Given the description of an element on the screen output the (x, y) to click on. 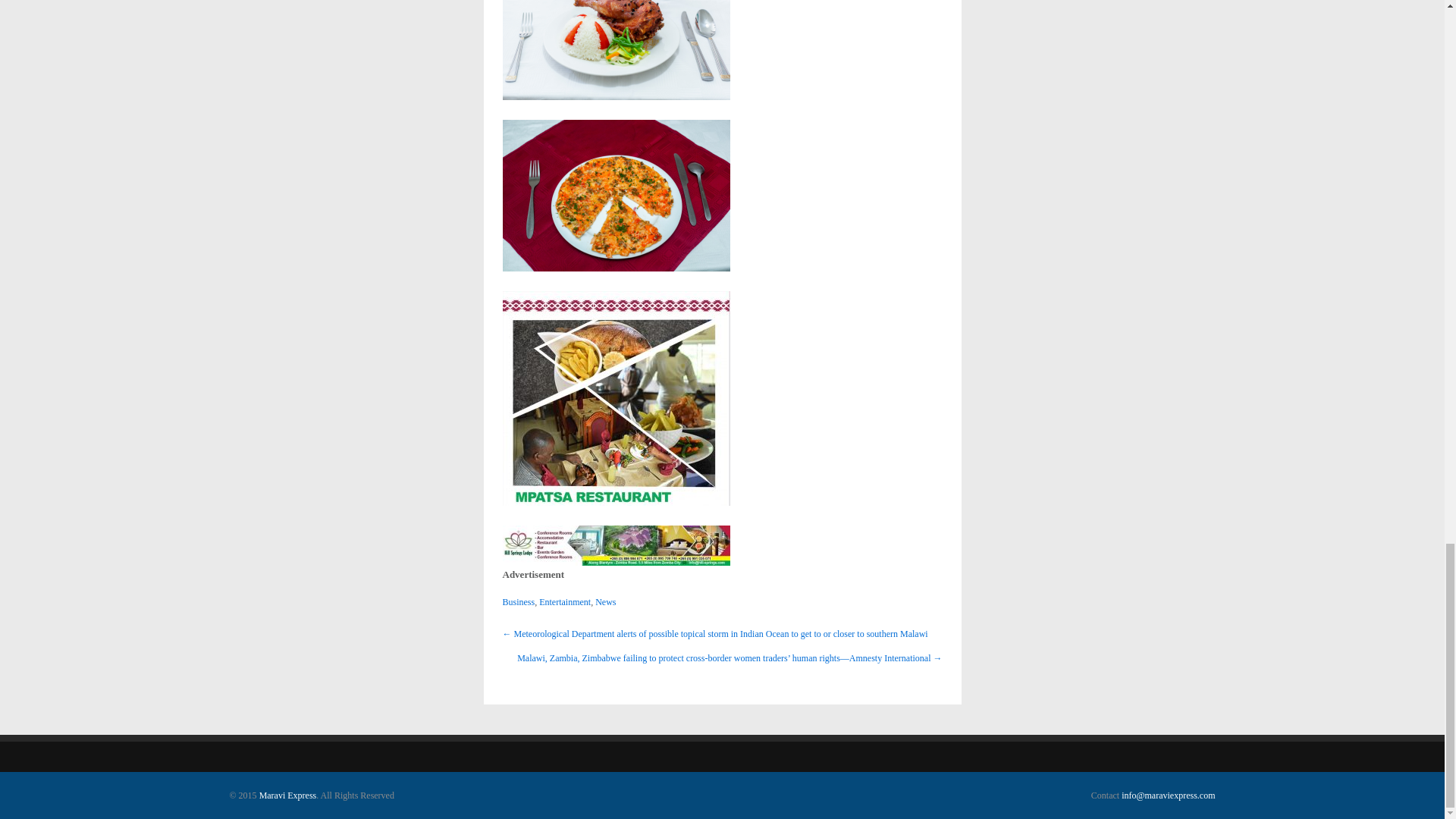
Entertainment (564, 602)
View all posts in Business (518, 602)
View all posts in News (605, 602)
View all posts in Entertainment (564, 602)
Maravi Express (288, 795)
News (605, 602)
Business (518, 602)
